Given the description of an element on the screen output the (x, y) to click on. 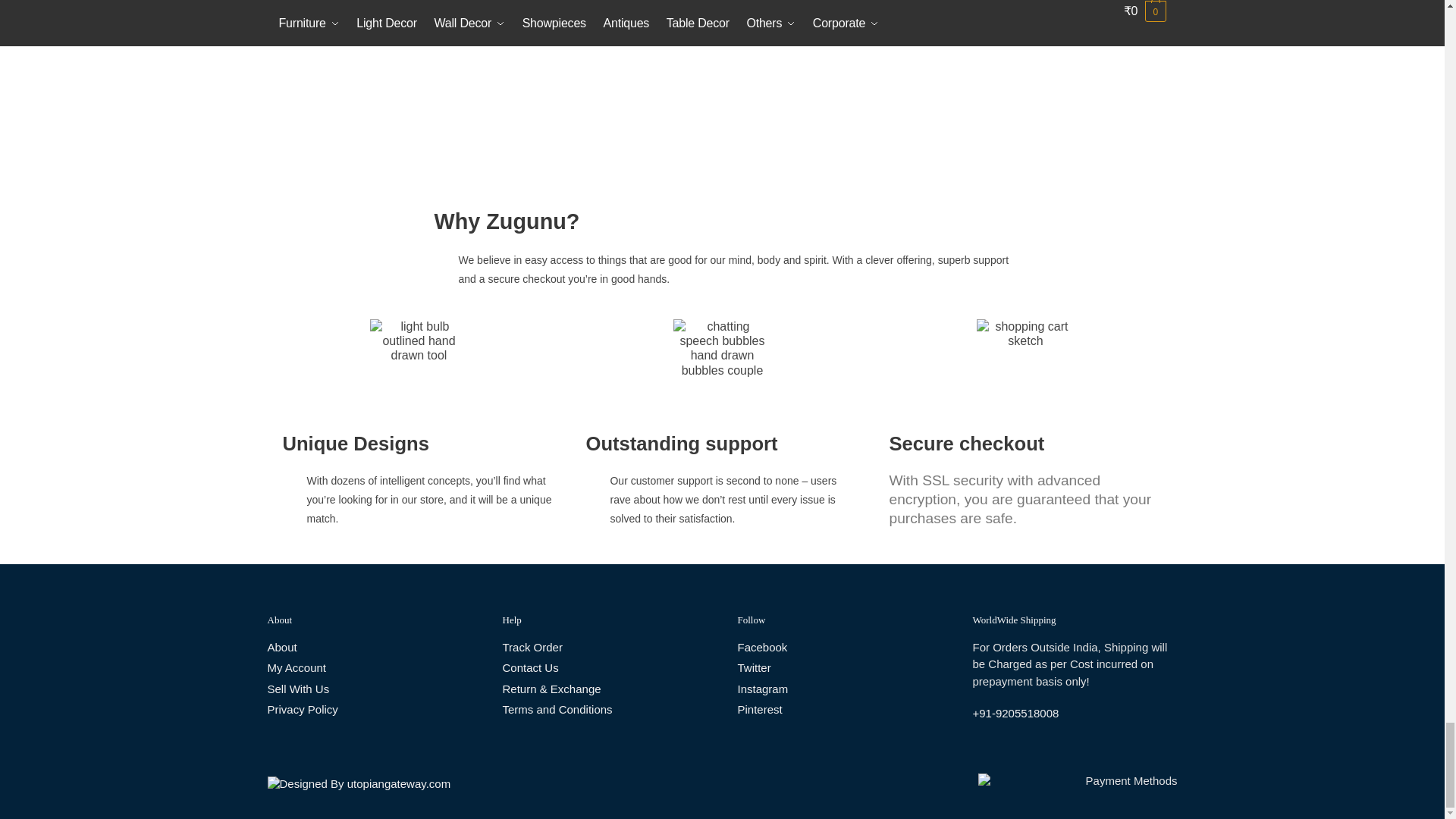
Designed by Utopian Gateway (357, 783)
